Given the description of an element on the screen output the (x, y) to click on. 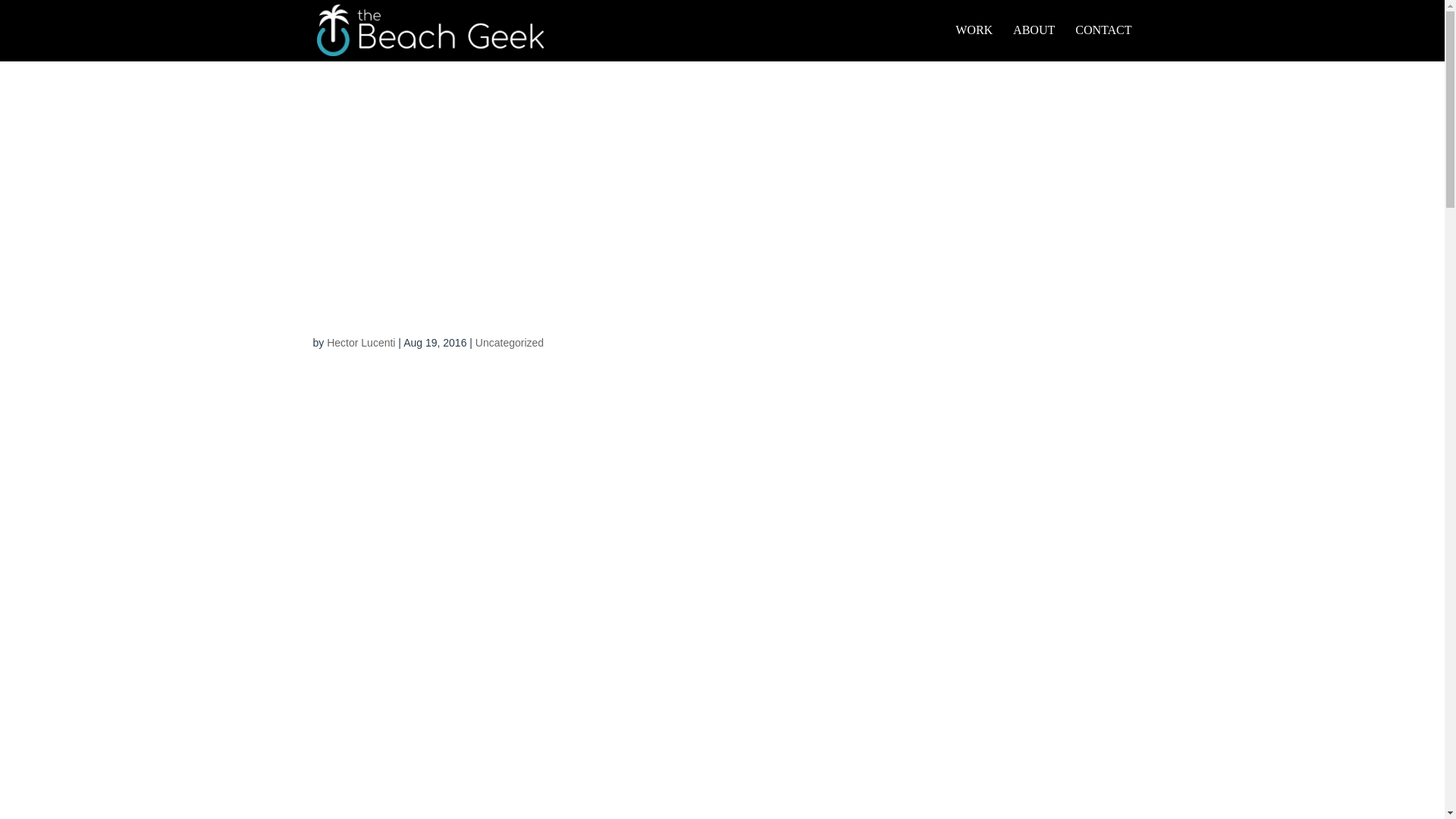
WORK (973, 42)
Hector Lucenti (360, 342)
ABOUT (1033, 42)
Posts by Hector Lucenti (360, 342)
Uncategorized (509, 342)
CONTACT (1103, 42)
